Given the description of an element on the screen output the (x, y) to click on. 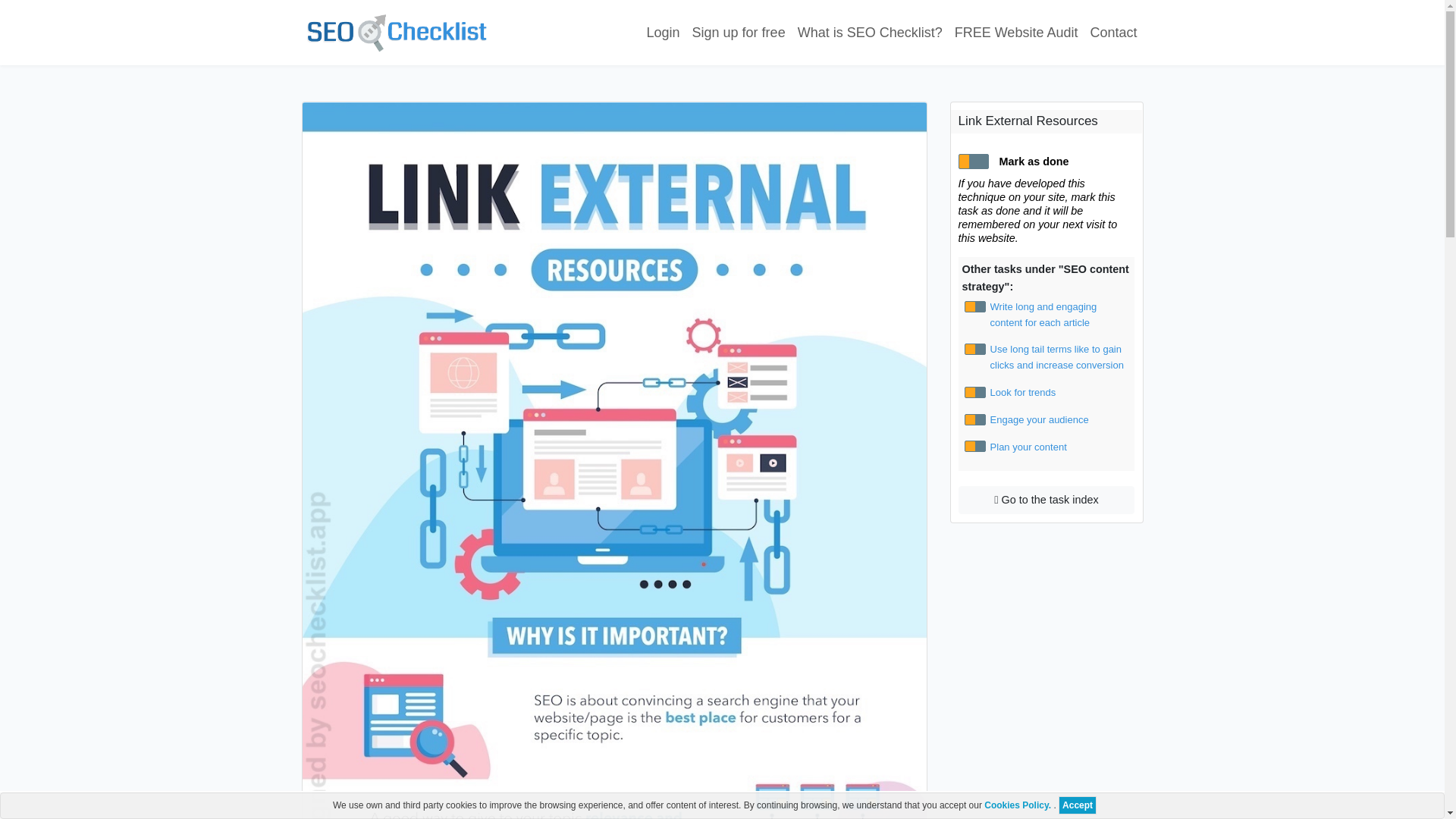
Accept (1077, 805)
Contact (1112, 32)
What is SEO Checklist? (870, 32)
Sign up for free (738, 32)
Login (662, 32)
Write long and engaging content for each article (1060, 315)
Engage your audience (1060, 420)
FREE Website Audit (1016, 32)
on (974, 392)
